Given the description of an element on the screen output the (x, y) to click on. 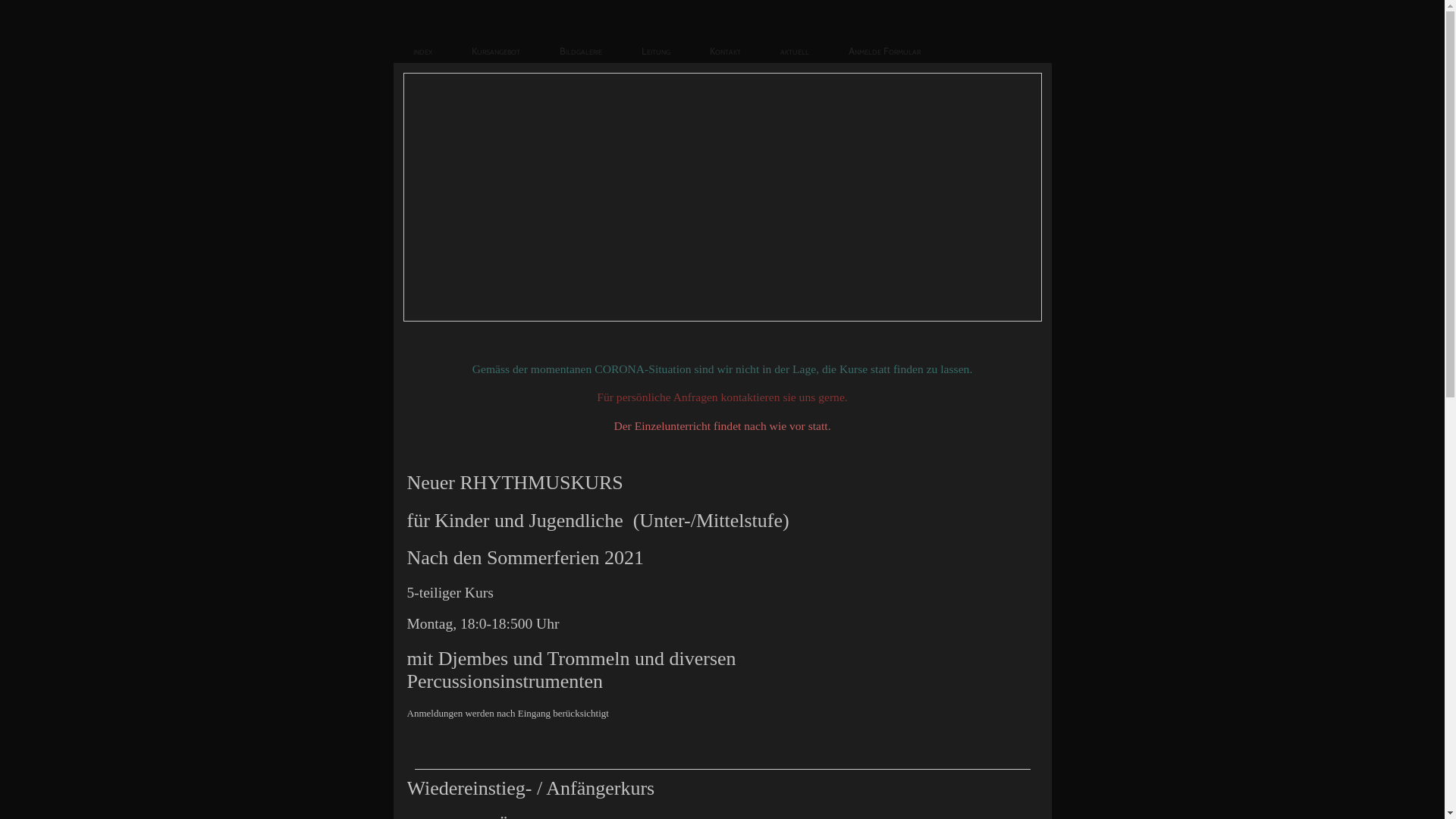
index Element type: text (421, 50)
Kursangebot Element type: text (495, 50)
Leitung Element type: text (655, 50)
Kontakt Element type: text (725, 50)
aktuell Element type: text (793, 50)
Anmelde Formular Element type: text (883, 50)
Bildgalerie Element type: text (580, 50)
